Given the description of an element on the screen output the (x, y) to click on. 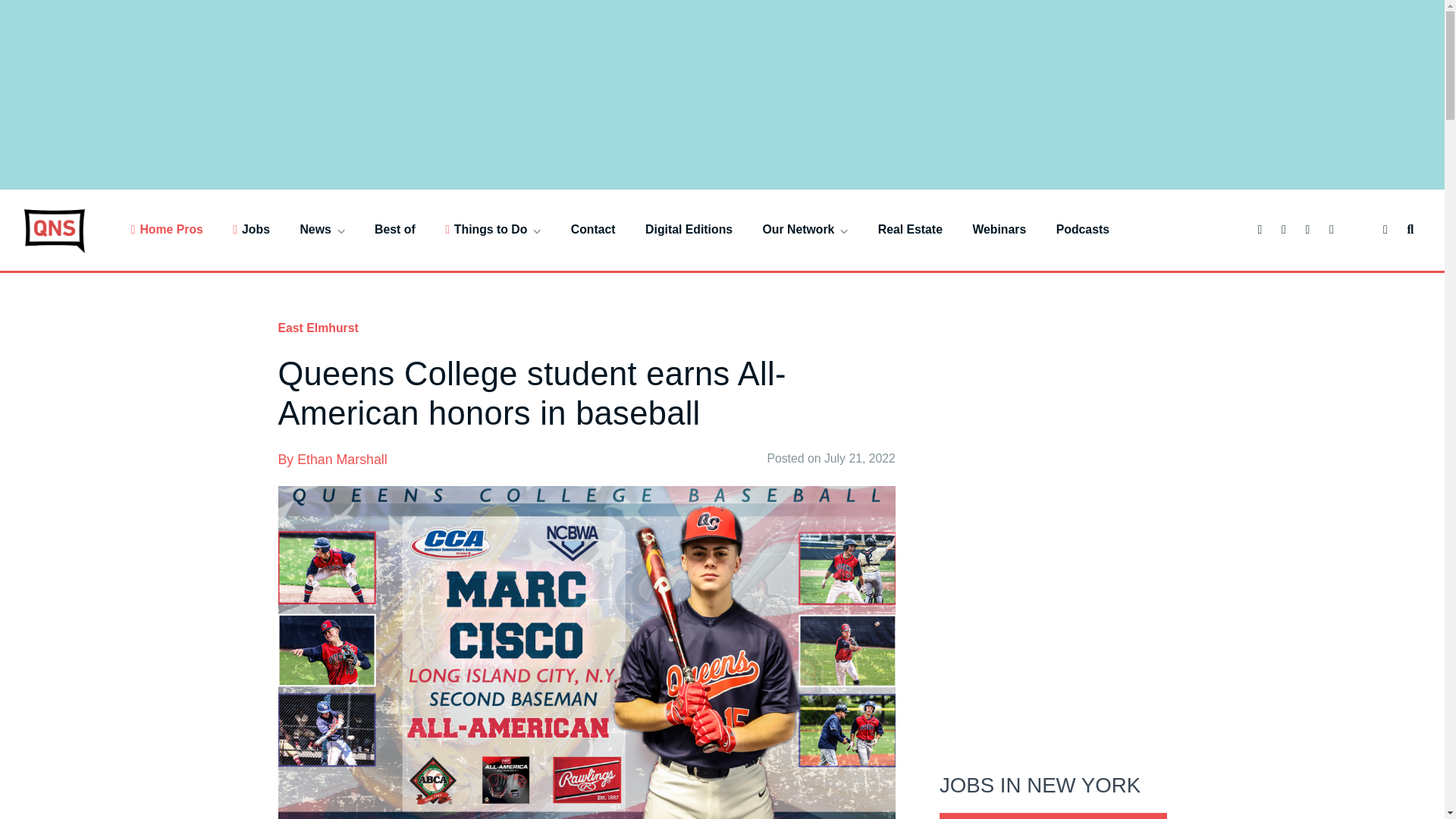
News (321, 228)
Real Estate (909, 228)
Home Pros (167, 228)
Podcasts (1083, 228)
Best of (394, 228)
Our Network (805, 228)
Things to Do (492, 228)
Digital Editions (688, 228)
Webinars (999, 228)
Jobs (250, 228)
